Given the description of an element on the screen output the (x, y) to click on. 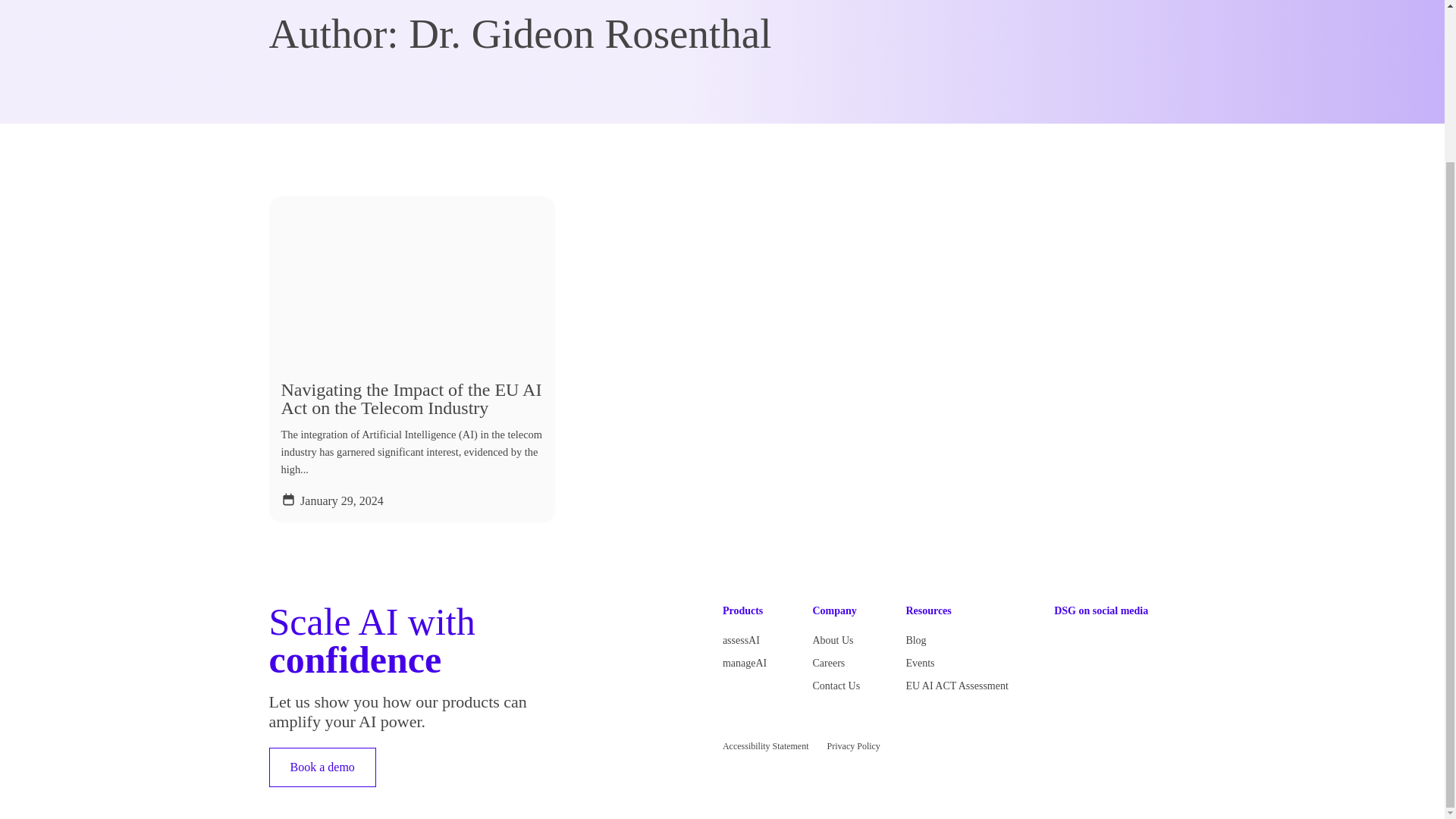
About Us (832, 640)
assessAI (741, 640)
EU AI ACT Assessment (956, 685)
Accessibility Statement (765, 746)
Contact Us (836, 685)
Privacy Policy (853, 746)
Events (919, 662)
Book a demo (321, 767)
Careers (828, 662)
Blog (915, 640)
manageAI (744, 662)
